Given the description of an element on the screen output the (x, y) to click on. 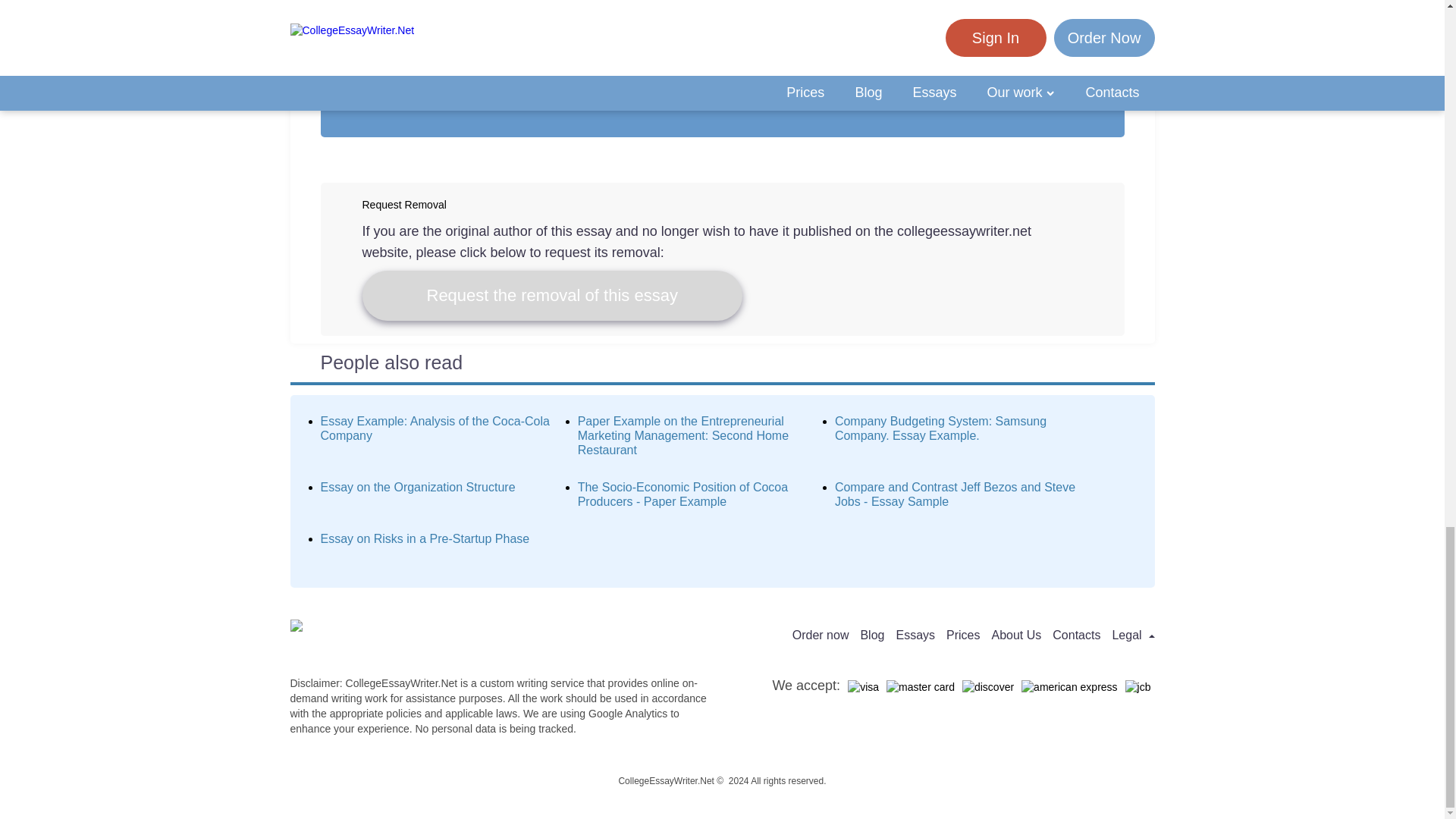
Contacts (1076, 634)
Prices (962, 634)
Order now (820, 634)
Blog (871, 634)
jcb (1138, 686)
Company Budgeting System: Samsung Company. Essay Example. (940, 428)
visa (863, 686)
master card (920, 686)
